Given the description of an element on the screen output the (x, y) to click on. 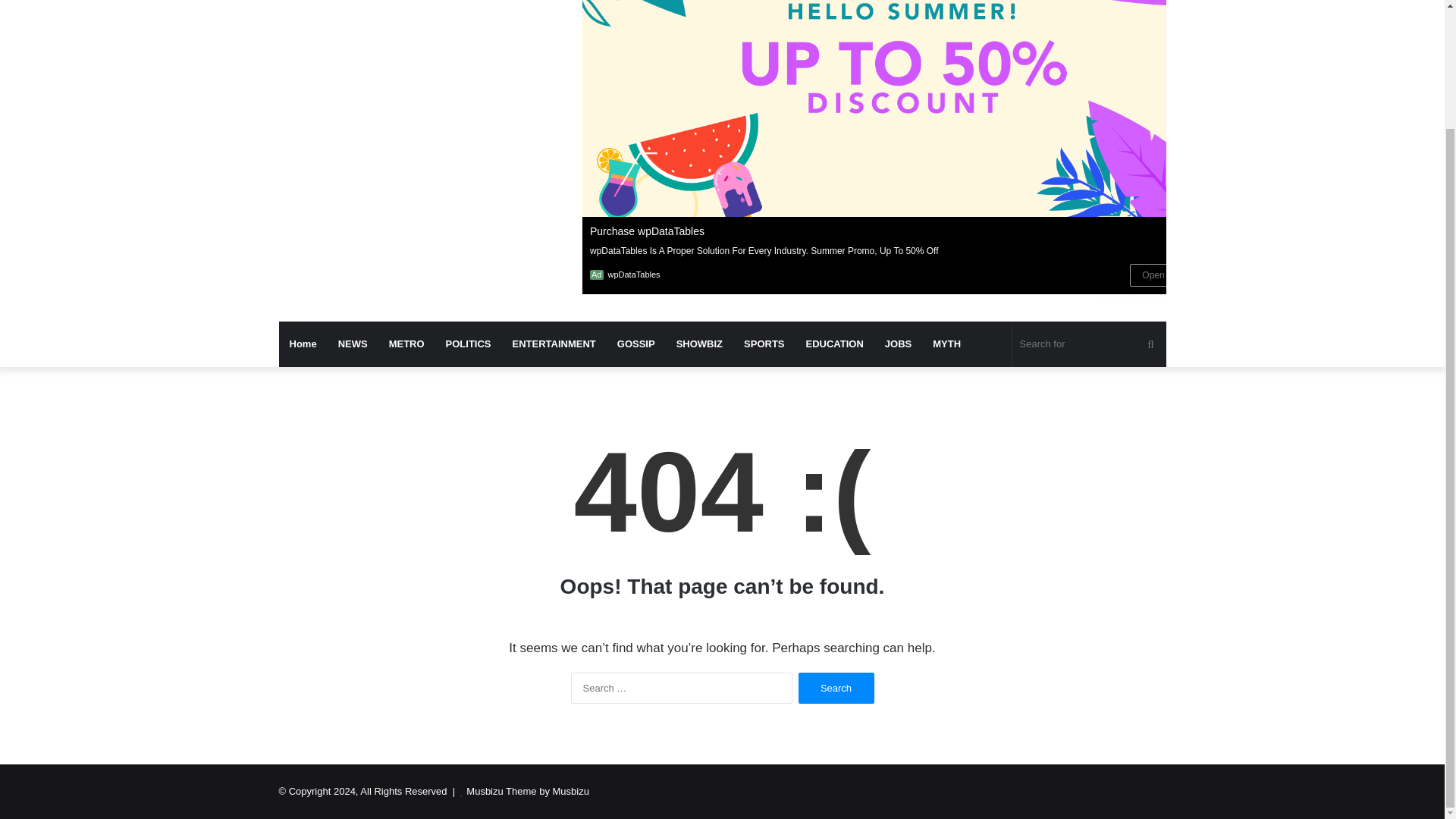
NEWS (352, 343)
SHOWBIZ (699, 343)
Search (835, 687)
POLITICS (468, 343)
JOBS (898, 343)
ENTERTAINMENT (554, 343)
MYTH (946, 343)
GOSSIP (636, 343)
METRO (406, 343)
Search for (1088, 343)
Search (835, 687)
Musbizu Theme by Musbizu (527, 790)
Search (835, 687)
Home (303, 343)
